Given the description of an element on the screen output the (x, y) to click on. 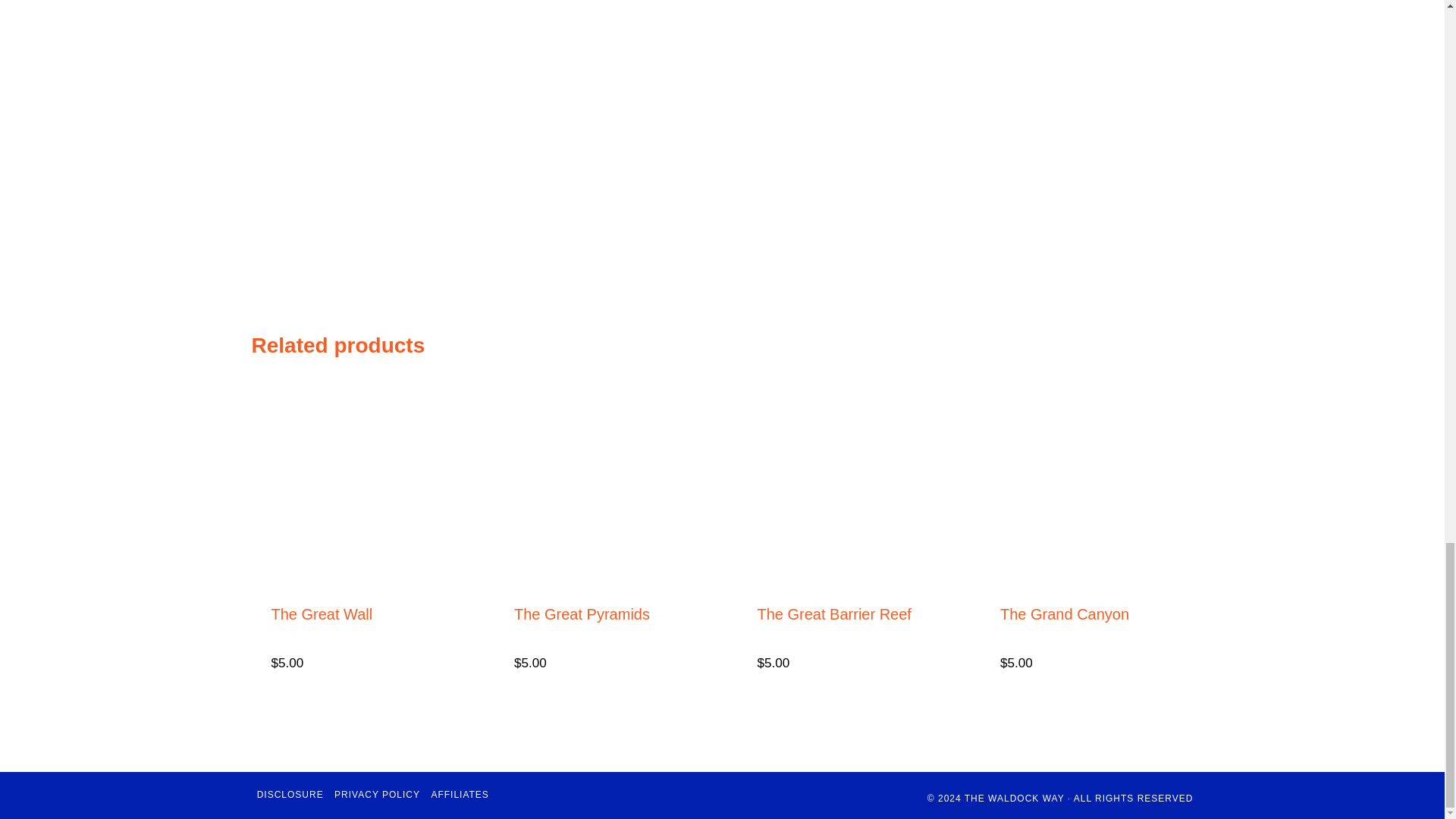
The Great Wall (321, 614)
Look Inside: Where is Unit Study (524, 26)
